Given the description of an element on the screen output the (x, y) to click on. 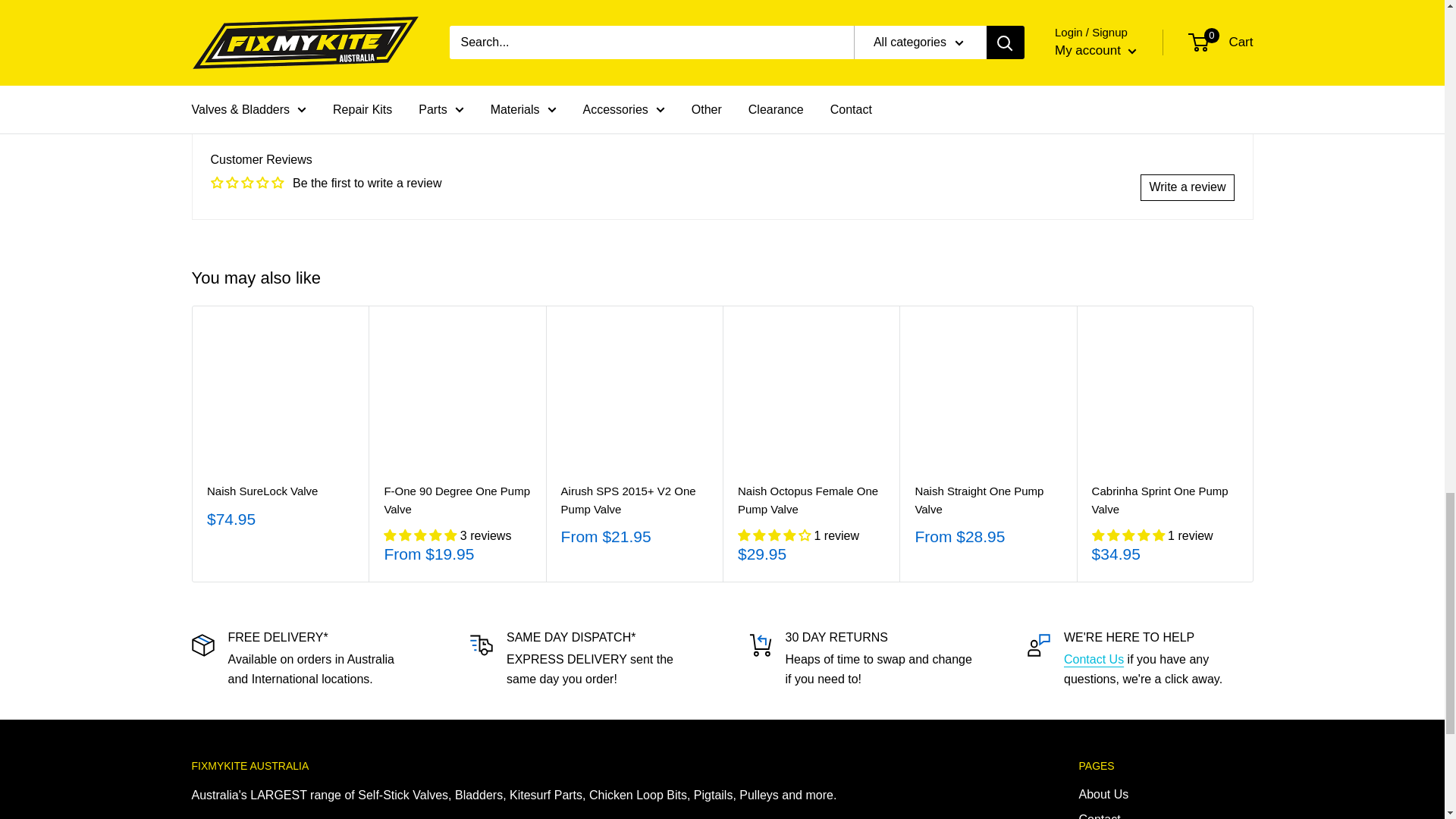
Contact (1094, 658)
